Given the description of an element on the screen output the (x, y) to click on. 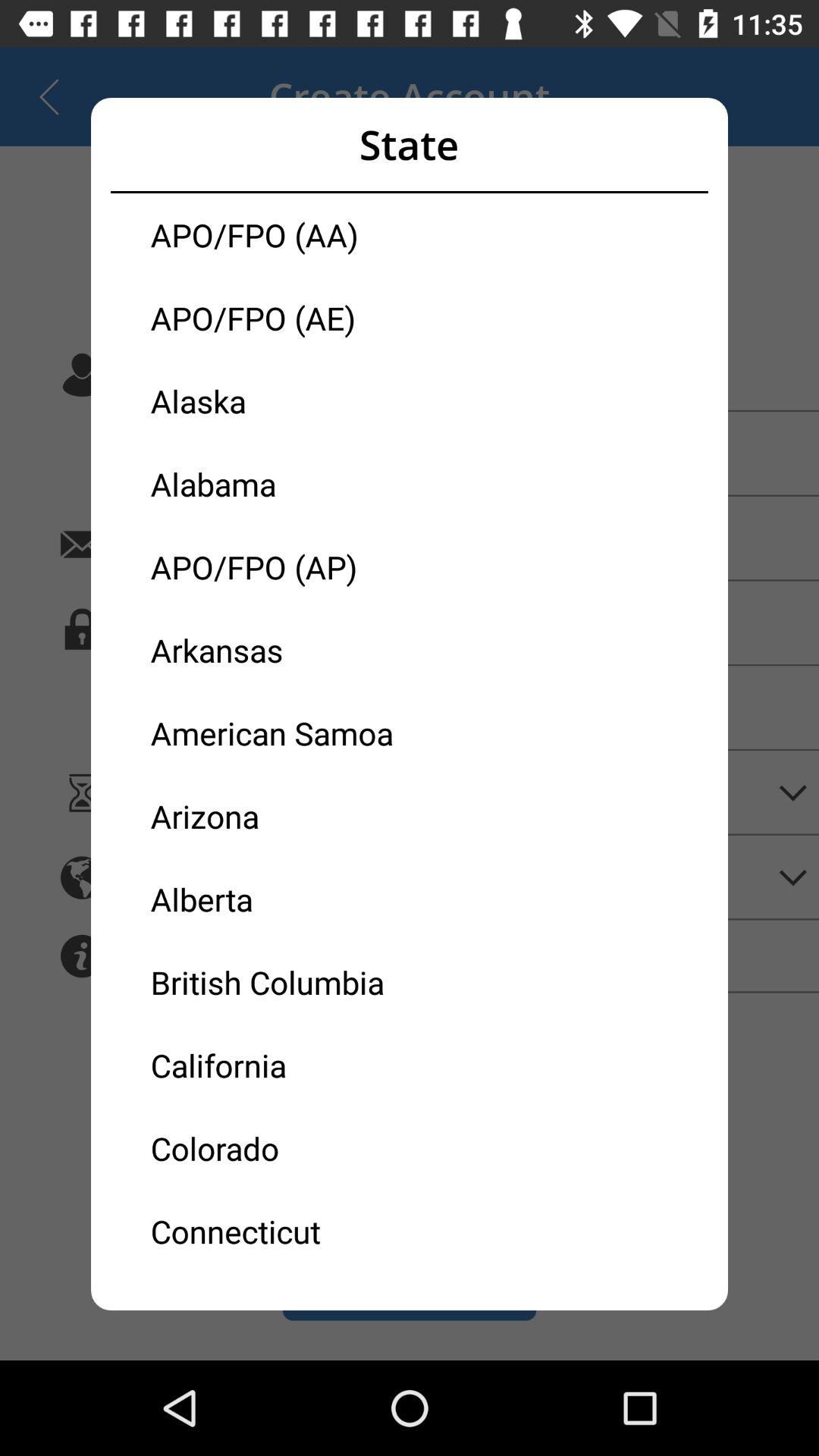
tap icon above the british columbia item (279, 898)
